Given the description of an element on the screen output the (x, y) to click on. 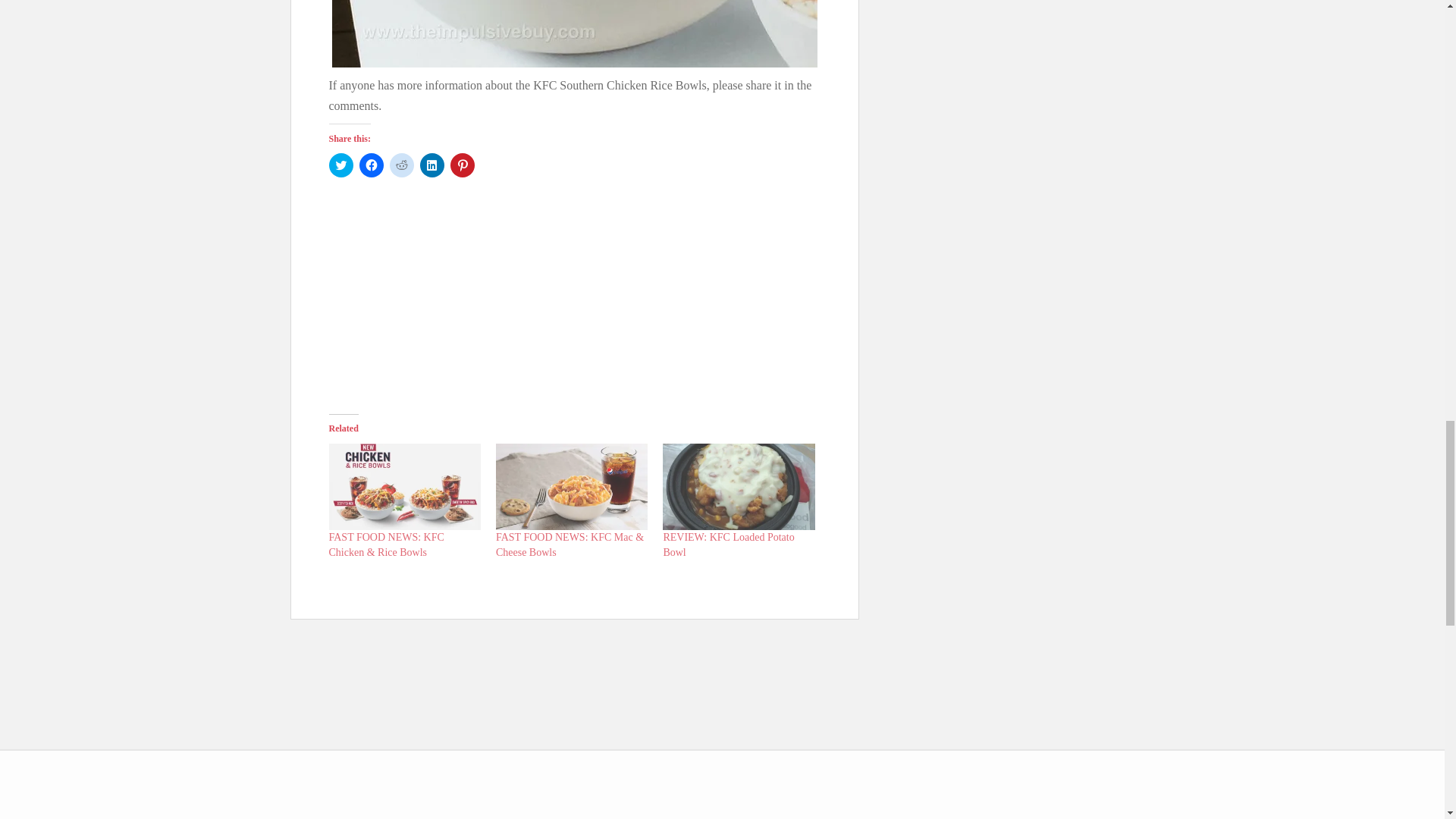
KFC Southern Chicken Rice Bowls closeup (573, 33)
Click to share on Twitter (341, 165)
Click to share on Reddit (401, 165)
Click to share on Pinterest (461, 165)
Click to share on Facebook (371, 165)
REVIEW: KFC Loaded Potato Bowl (727, 544)
Click to share on LinkedIn (432, 165)
View 'KFC Southern Chicken Rice Bowls closeup' on Flickr.com (575, 33)
